Given the description of an element on the screen output the (x, y) to click on. 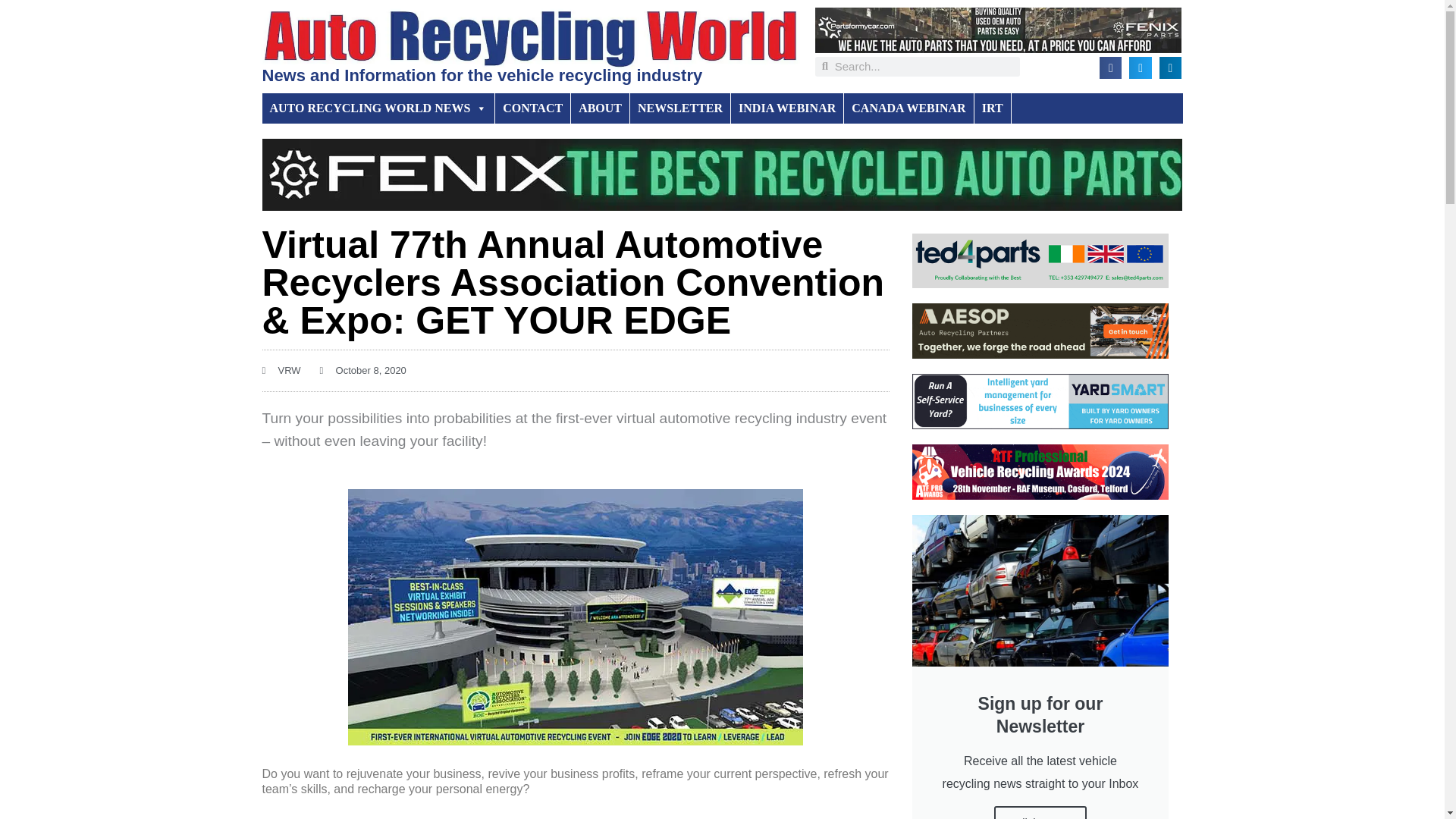
VRW (281, 370)
ABOUT (600, 108)
October 8, 2020 (363, 370)
AUTO RECYCLING WORLD NEWS (379, 108)
NEWSLETTER (680, 108)
CANADA WEBINAR (909, 108)
Search (923, 66)
CONTACT (532, 108)
IRT (992, 108)
INDIA WEBINAR (787, 108)
